Given the description of an element on the screen output the (x, y) to click on. 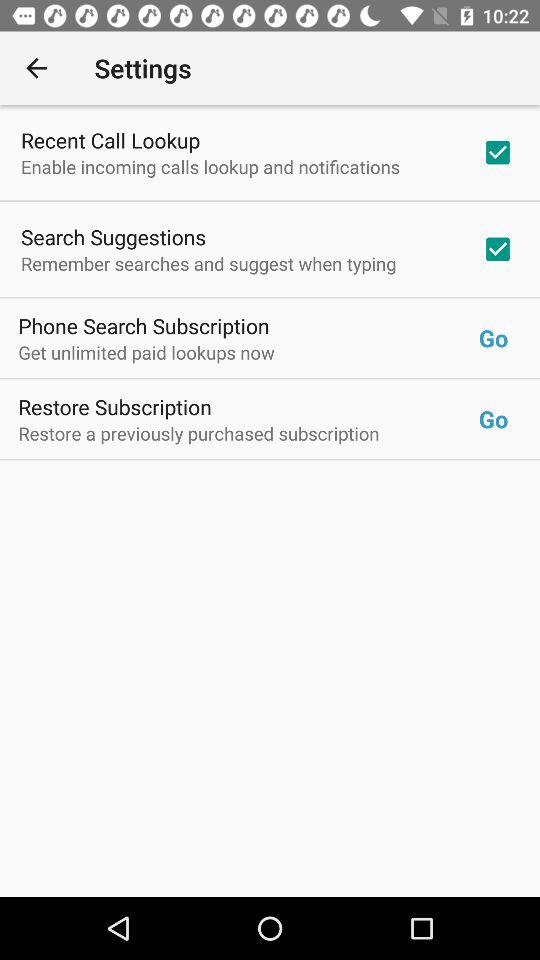
turn off the icon below the recent call lookup icon (210, 166)
